Given the description of an element on the screen output the (x, y) to click on. 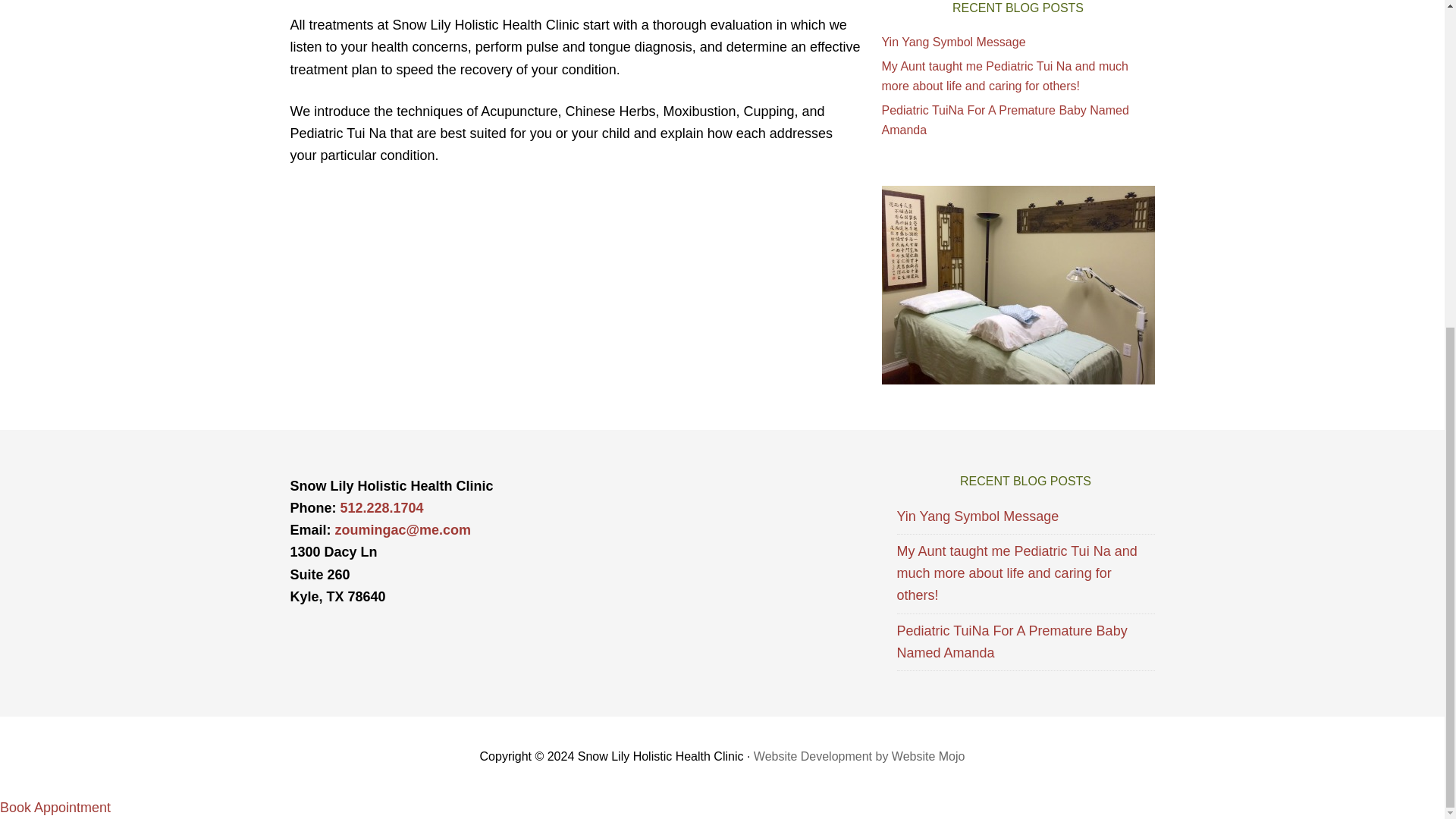
Website Development by Website Mojo (859, 756)
Pediatric TuiNa For A Premature Baby Named Amanda (1011, 641)
Online Scheduling (55, 807)
Yin Yang Symbol Message (977, 515)
Book Appointment (55, 807)
Yin Yang Symbol Message (952, 41)
512.228.1704 (381, 507)
Pediatric TuiNa For A Premature Baby Named Amanda (1004, 119)
